Given the description of an element on the screen output the (x, y) to click on. 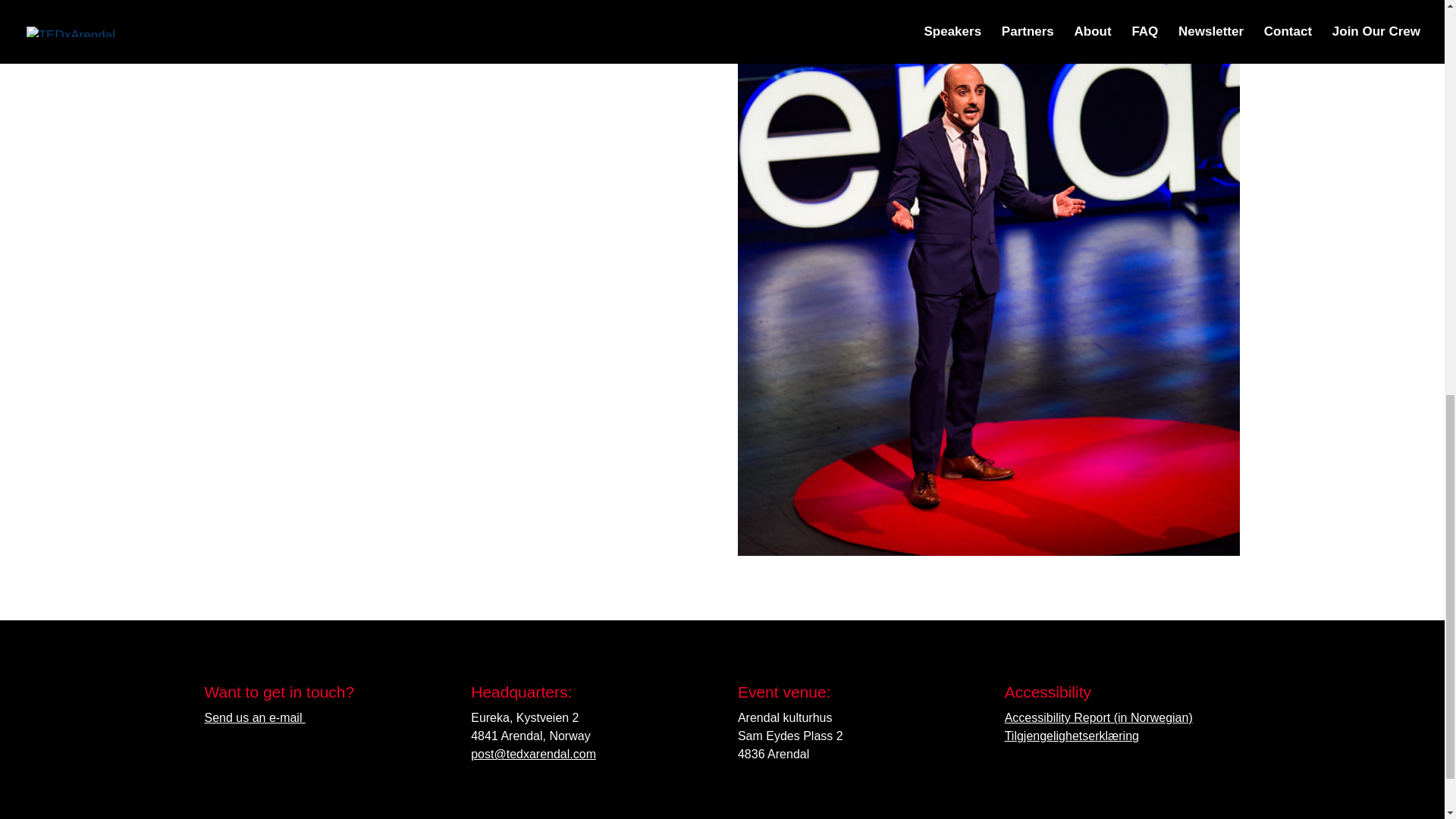
Send us an e-mail  (255, 717)
